Given the description of an element on the screen output the (x, y) to click on. 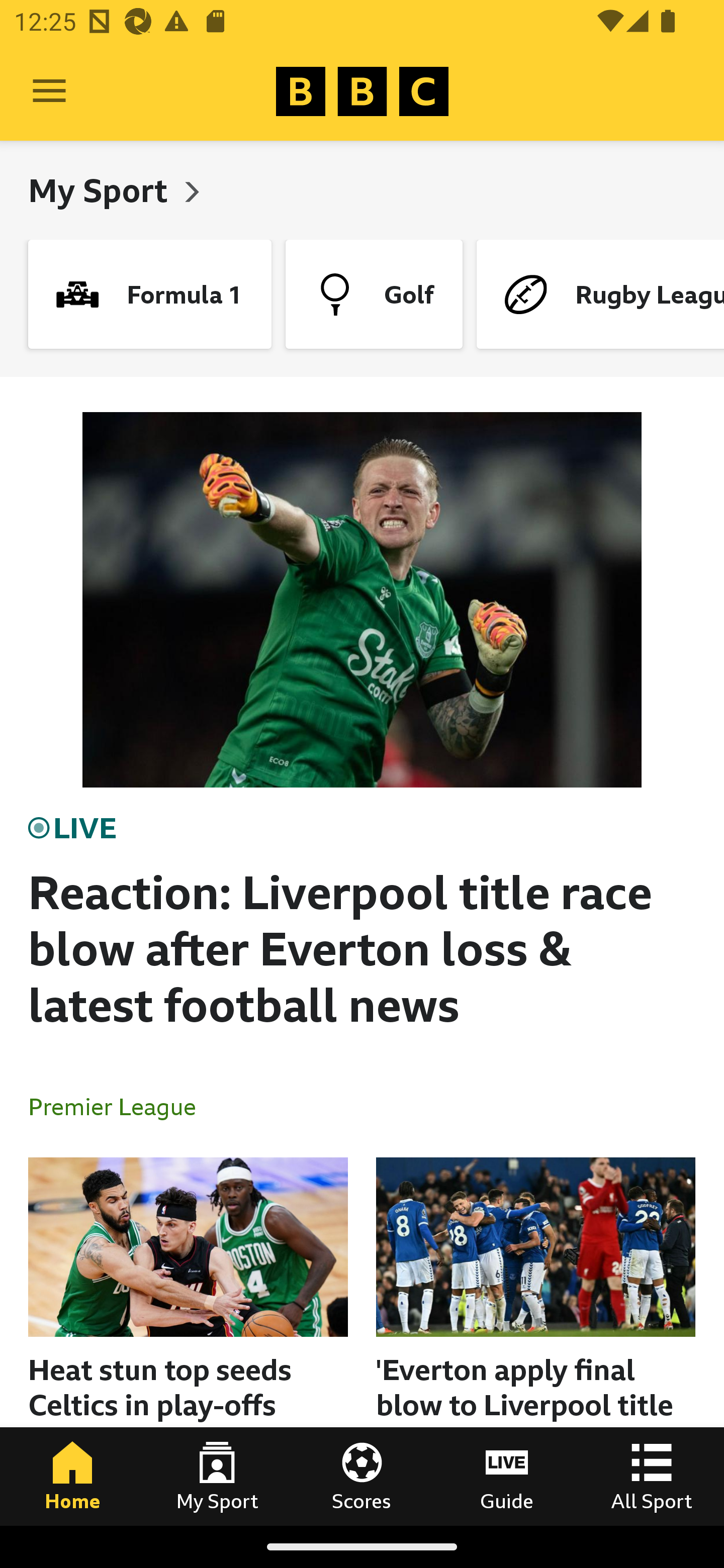
Open Menu (49, 91)
My Sport (101, 190)
Premier League In the section Premier League (119, 1106)
My Sport (216, 1475)
Scores (361, 1475)
Guide (506, 1475)
All Sport (651, 1475)
